Given the description of an element on the screen output the (x, y) to click on. 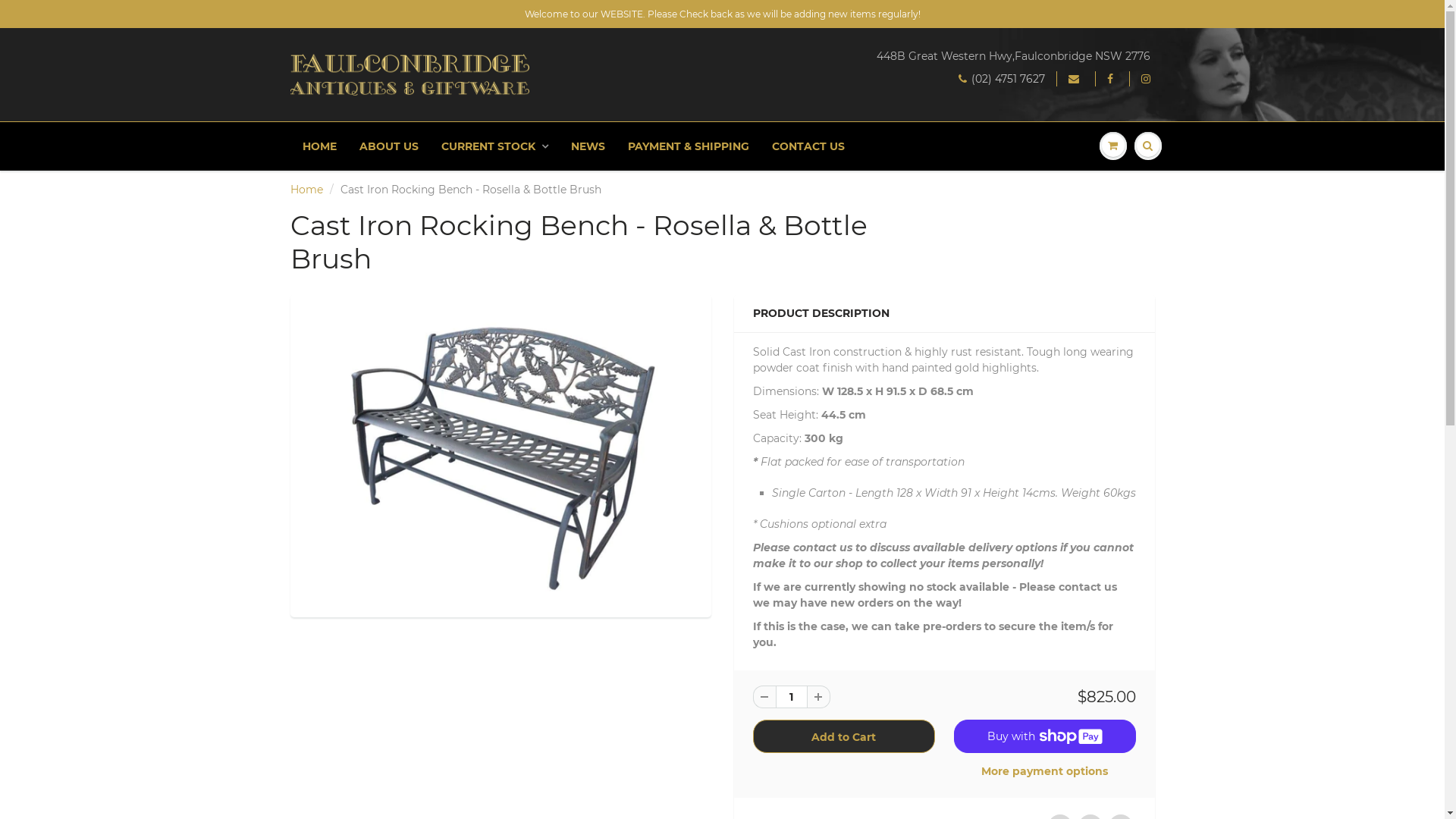
(02) 4751 7627 Element type: text (1001, 78)
HOME Element type: text (319, 145)
PAYMENT & SHIPPING Element type: text (687, 145)
Facebook Element type: hover (1112, 78)
NEWS Element type: text (587, 145)
More payment options Element type: text (1044, 770)
Instagram Element type: hover (1147, 78)
CURRENT STOCK Element type: text (493, 145)
Home Element type: text (305, 189)
Add to Cart Element type: text (843, 736)
Cast Iron Rocking Bench - Rosella & Bottle Brush Element type: hover (499, 453)
CONTACT US Element type: text (807, 145)
ABOUT US Element type: text (388, 145)
